Given the description of an element on the screen output the (x, y) to click on. 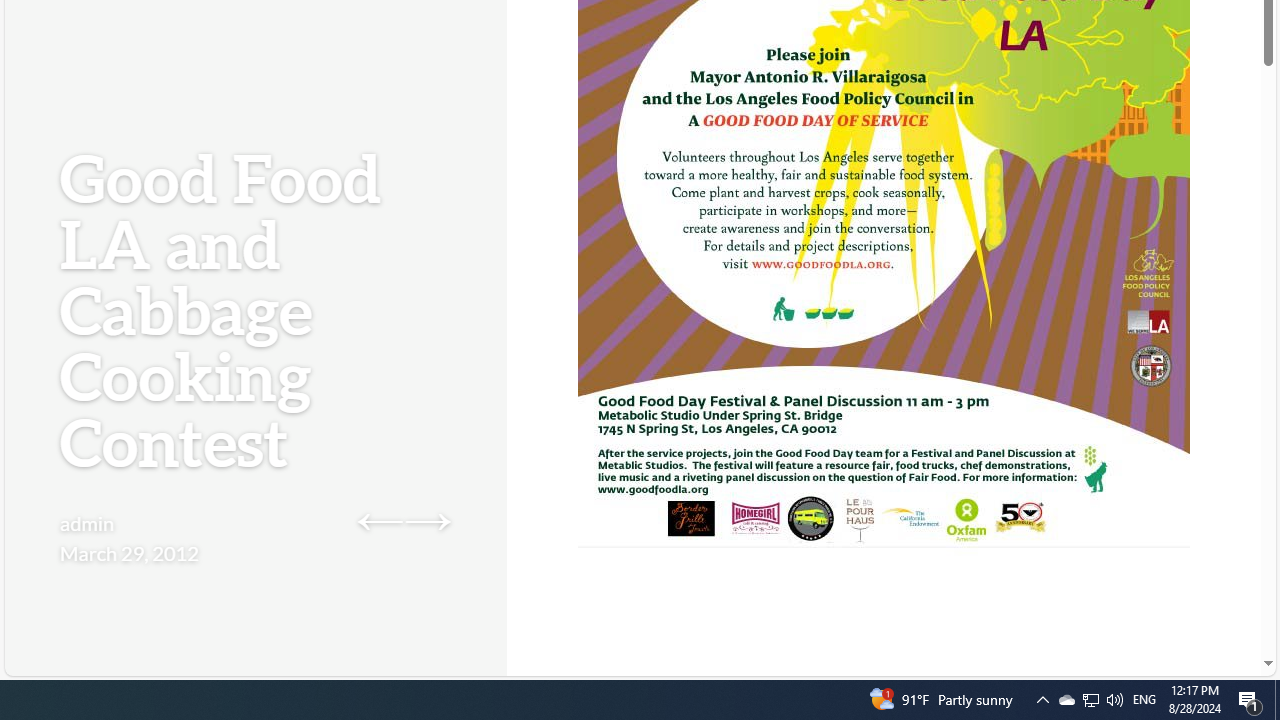
March 29, 2012 (129, 552)
admin (87, 522)
